Given the description of an element on the screen output the (x, y) to click on. 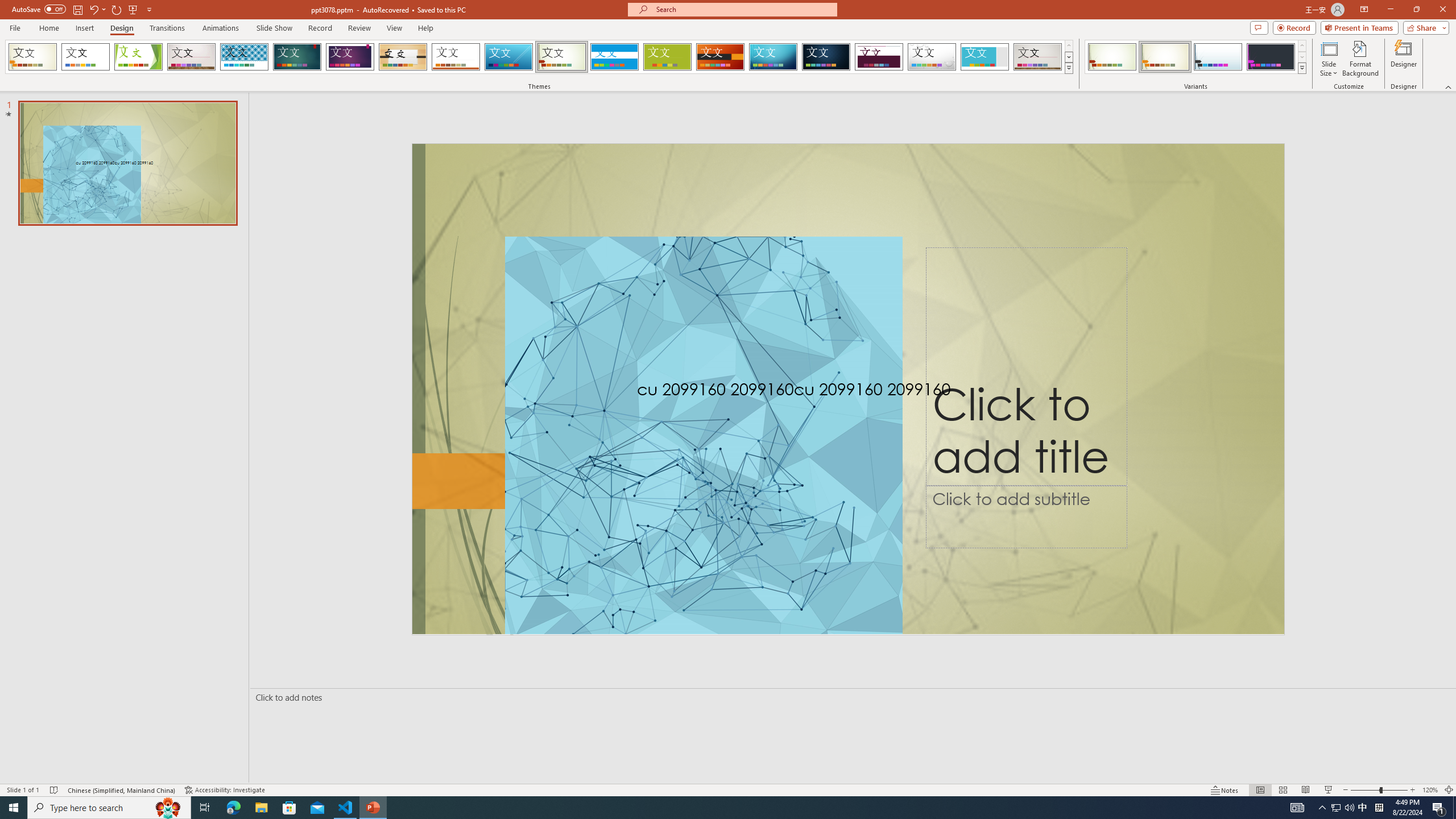
Gallery (191, 56)
Frame Loading Preview... (984, 56)
Organic Loading Preview... (403, 56)
Wisp Variant 1 (1112, 56)
AutomationID: SlideThemesGallery (539, 56)
